Given the description of an element on the screen output the (x, y) to click on. 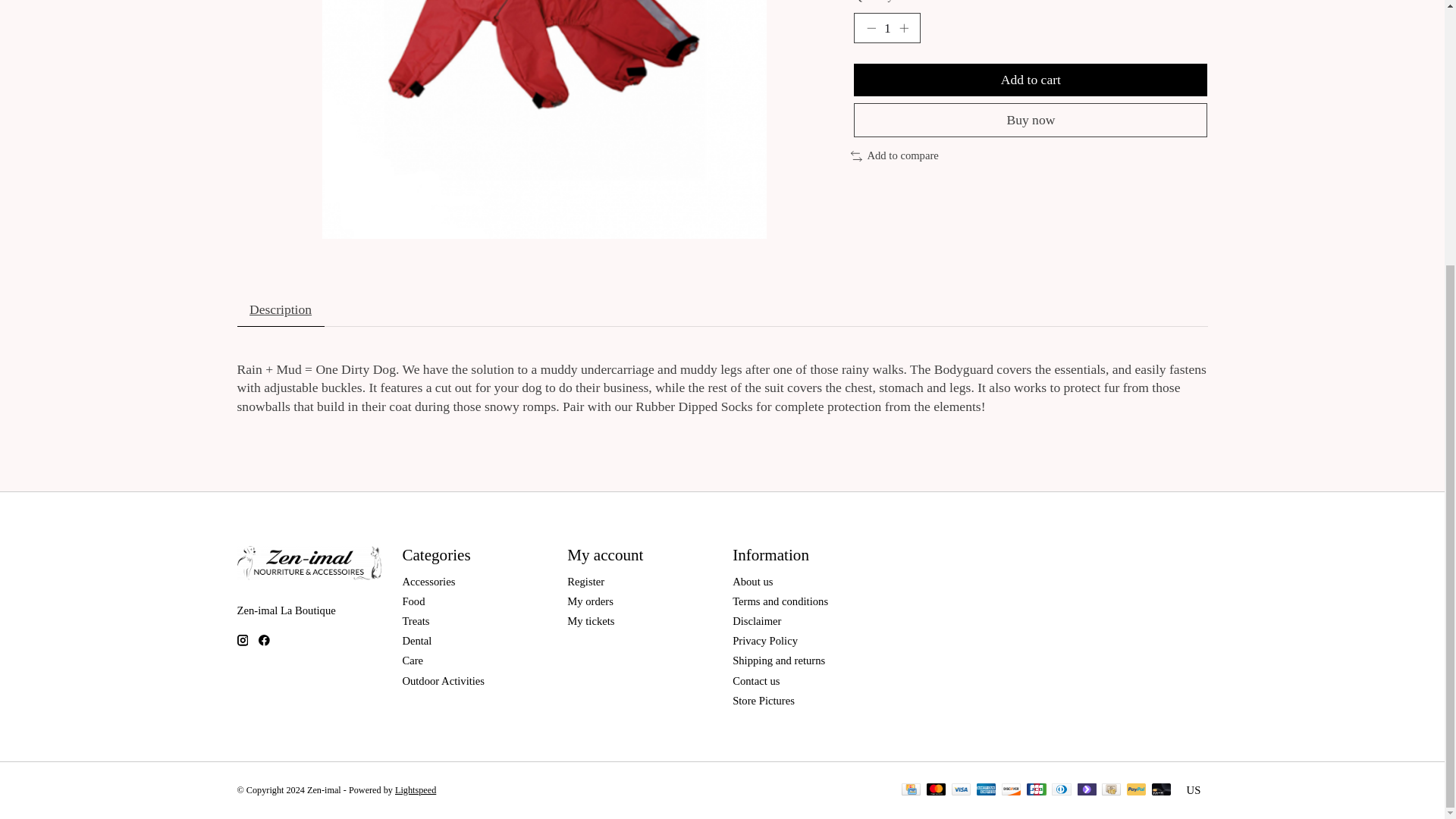
1 (886, 28)
